Given the description of an element on the screen output the (x, y) to click on. 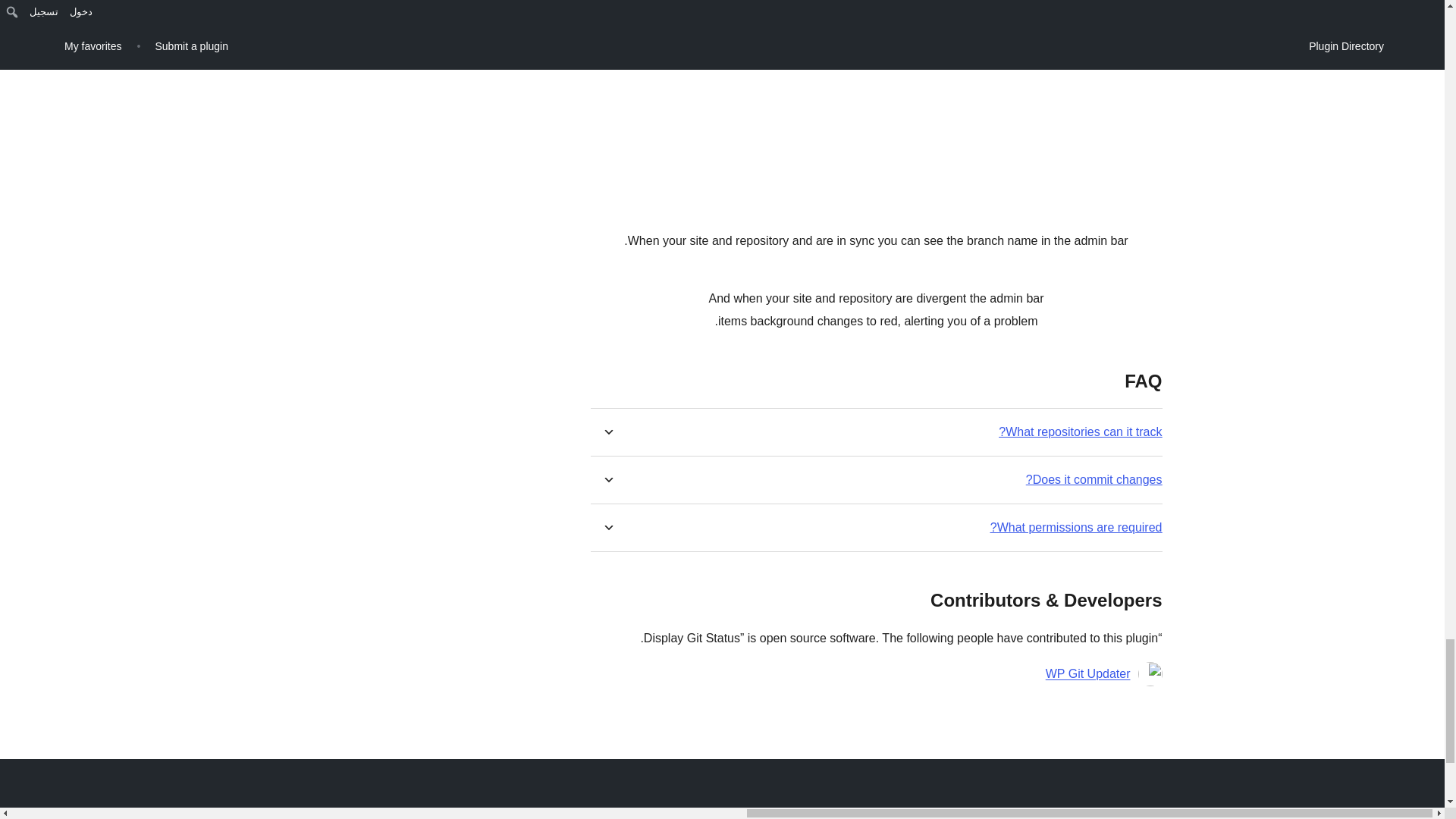
Does it commit changes? (1093, 479)
What repositories can it track? (1079, 431)
What permissions are required? (1075, 527)
